Given the description of an element on the screen output the (x, y) to click on. 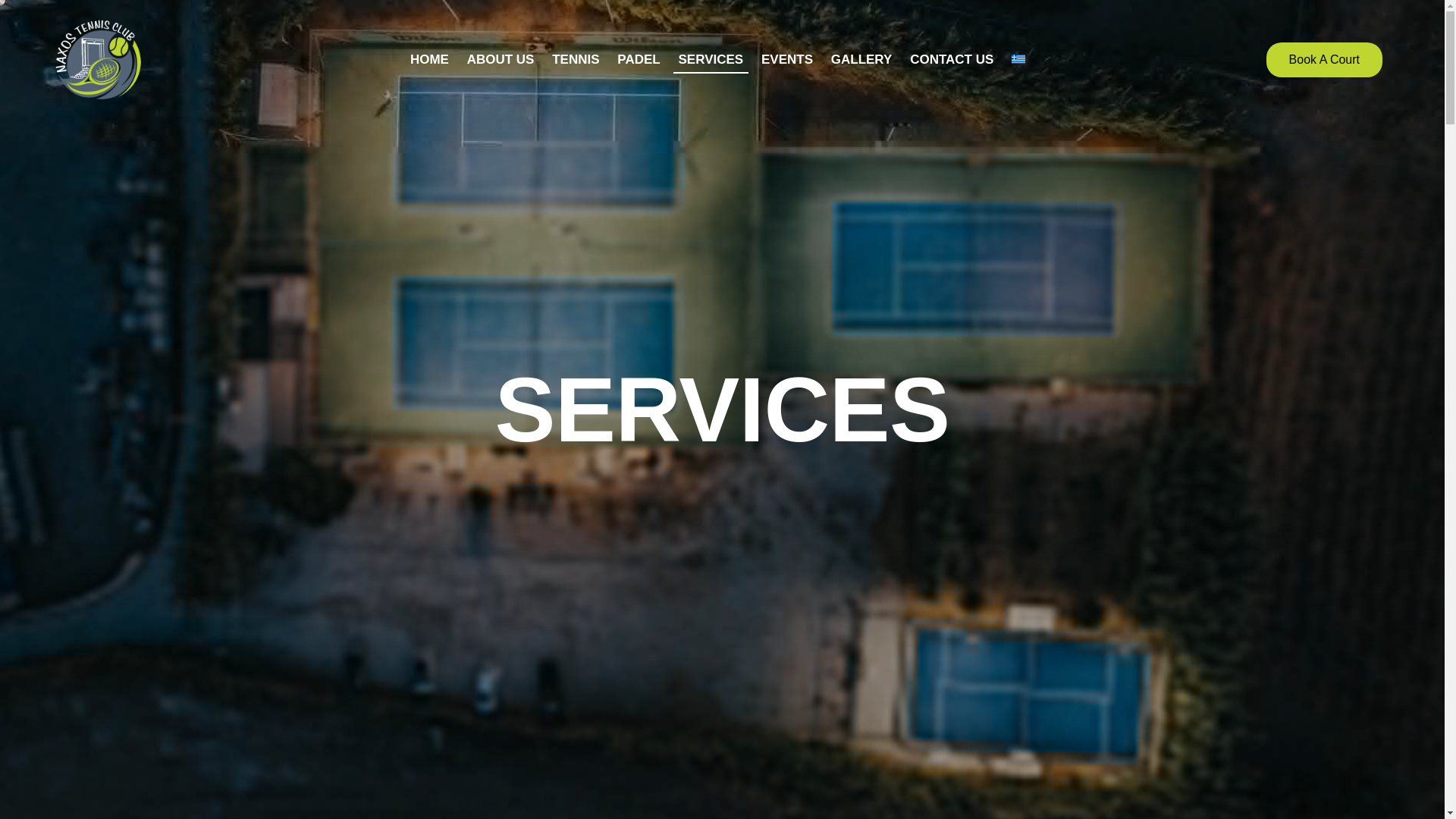
CONTACT US (952, 58)
SERVICES (710, 58)
TENNIS (575, 58)
PADEL (638, 58)
HOME (429, 58)
ABOUT US (500, 58)
GALLERY (861, 58)
EVENTS (787, 58)
Book A Court (1323, 59)
